Given the description of an element on the screen output the (x, y) to click on. 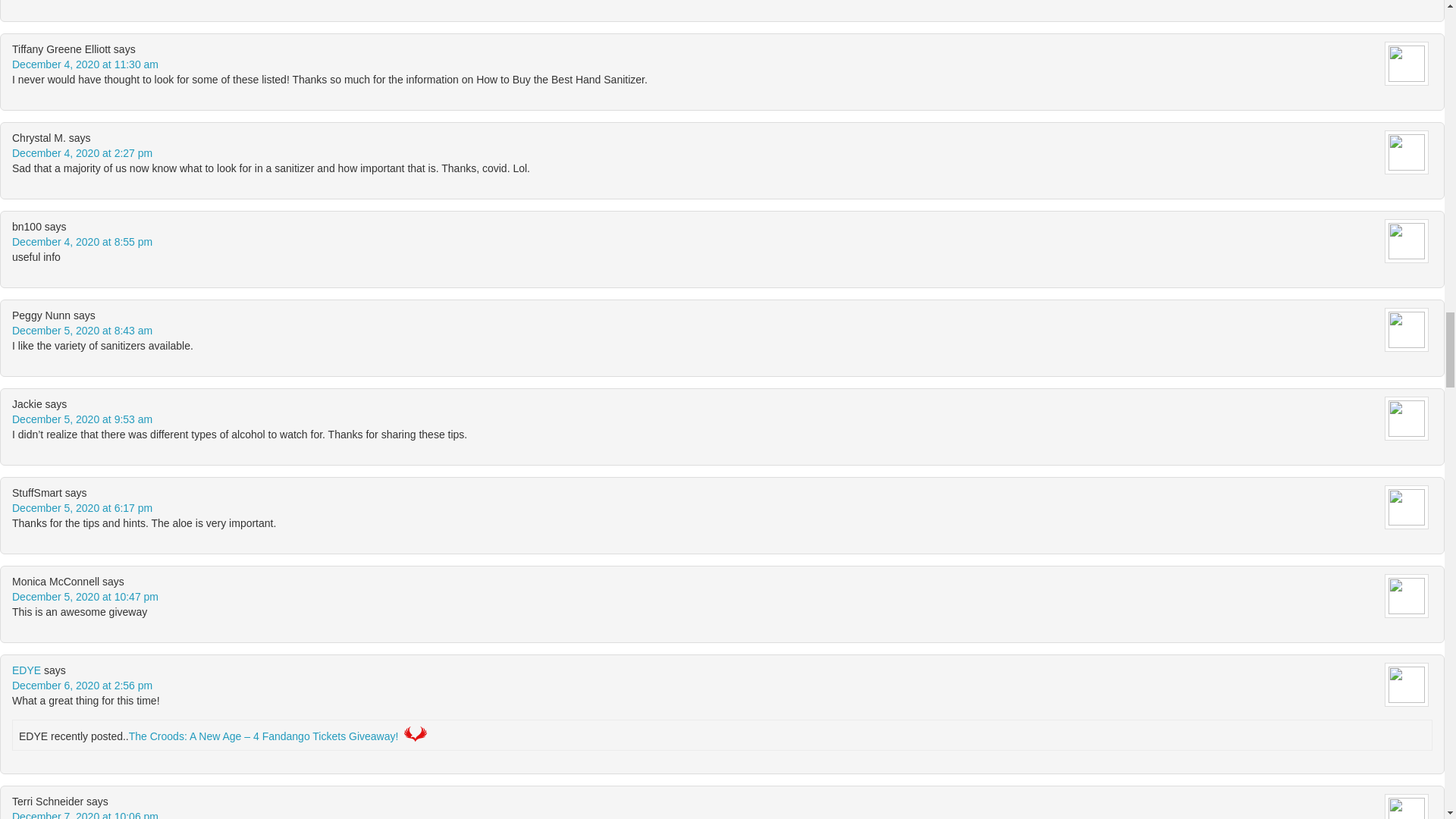
December 4, 2020 at 8:55 pm (81, 241)
December 4, 2020 at 11:30 am (84, 64)
December 4, 2020 at 2:27 pm (81, 152)
